Given the description of an element on the screen output the (x, y) to click on. 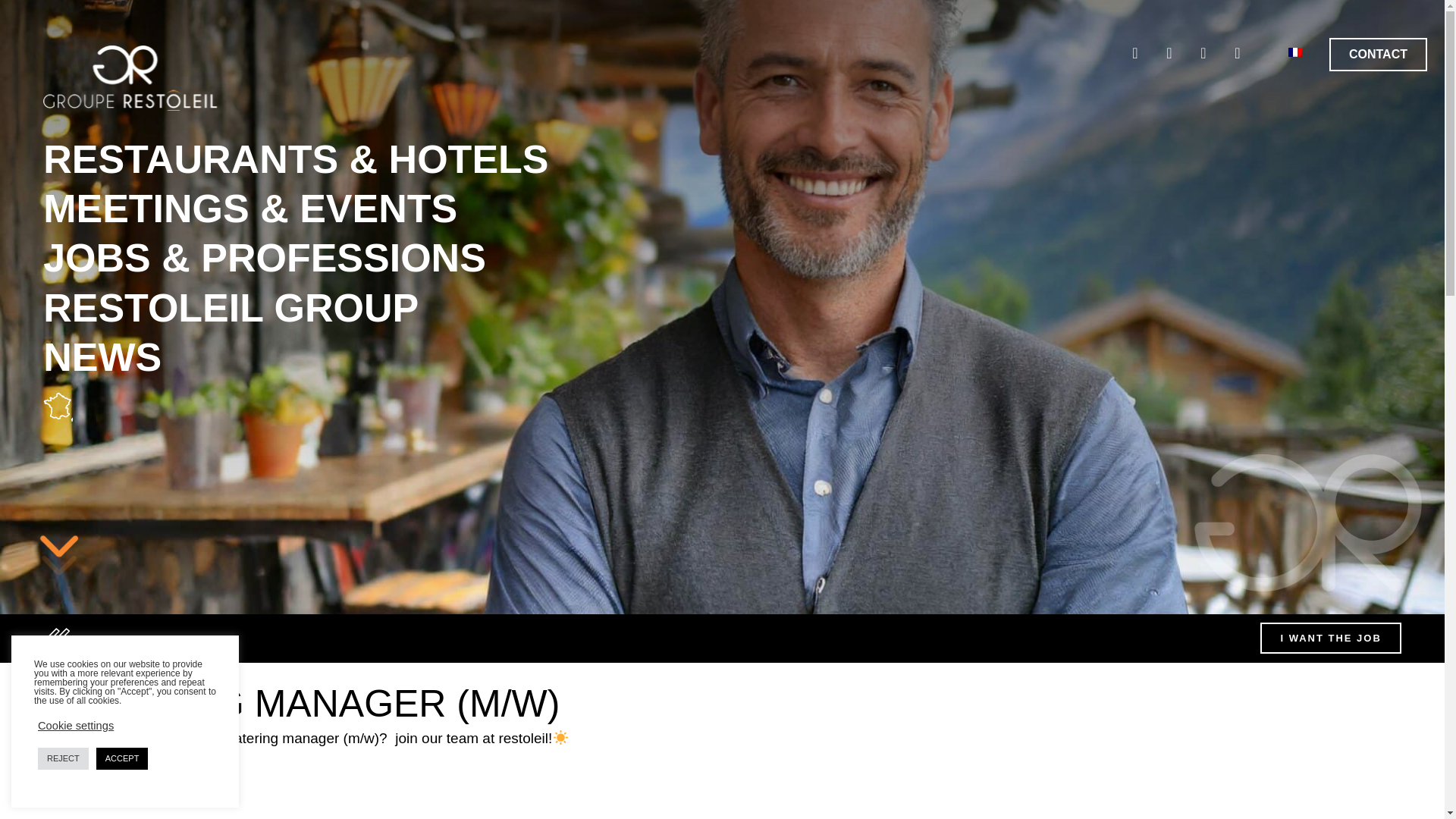
RESTOLEIL GROUP (295, 307)
Youtube (1237, 52)
NEWS (295, 357)
Facebook-f (1134, 52)
CONTACT (1377, 54)
Linkedin-in (1169, 52)
Instagram (1203, 52)
